Given the description of an element on the screen output the (x, y) to click on. 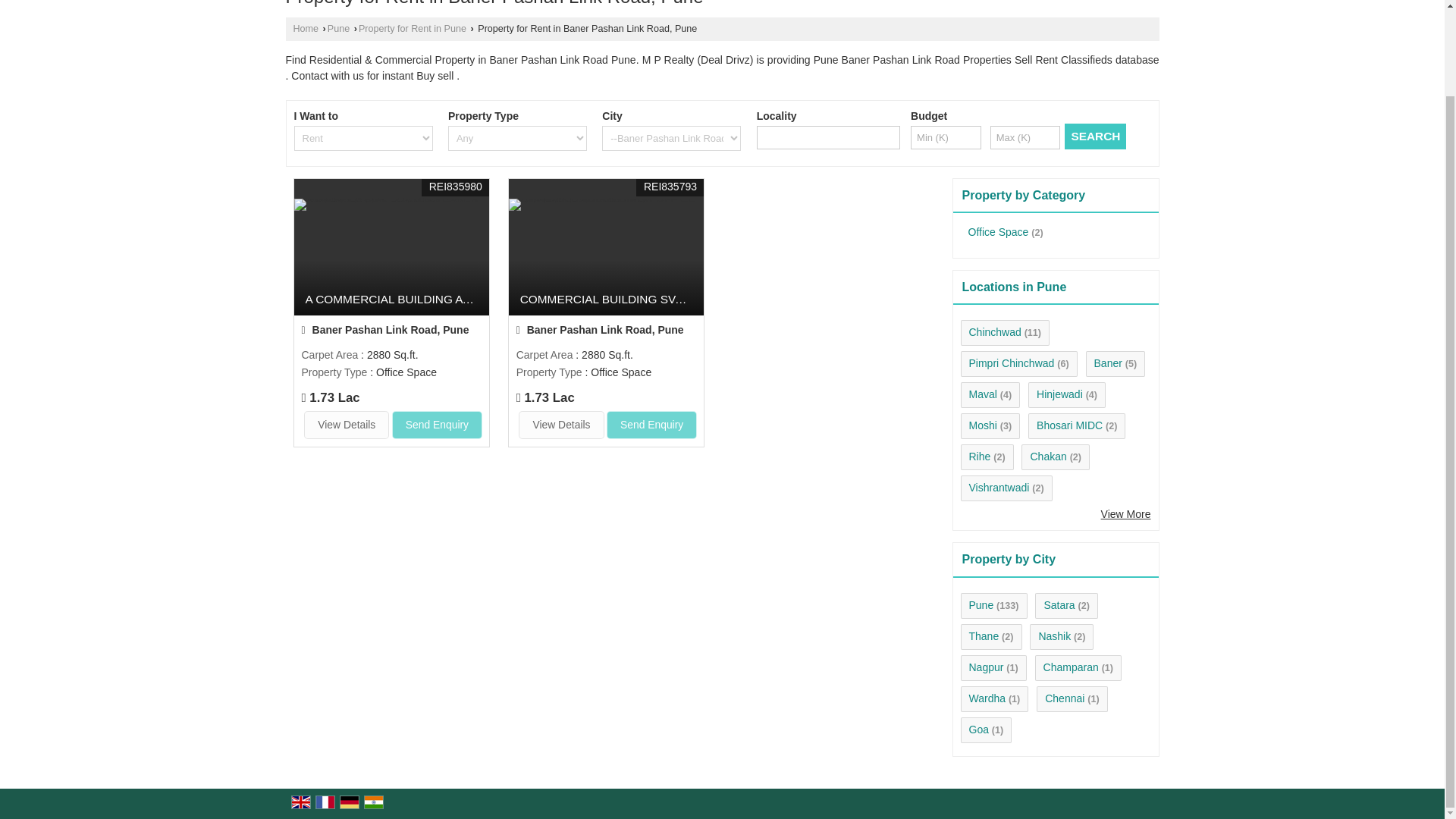
SEARCH (1094, 136)
